Given the description of an element on the screen output the (x, y) to click on. 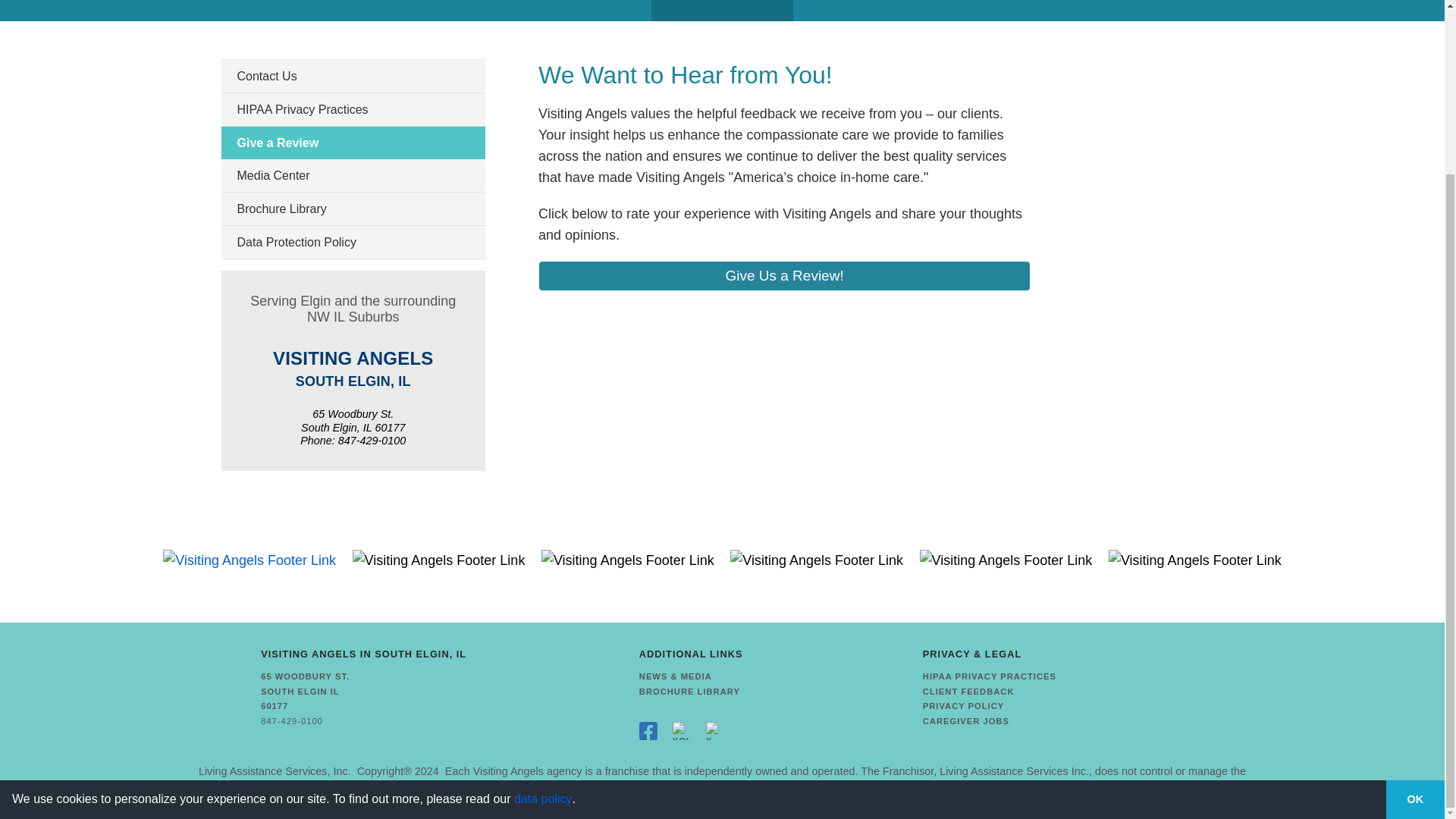
data policy (542, 587)
senior home care franchise opportunities (274, 770)
